Given the description of an element on the screen output the (x, y) to click on. 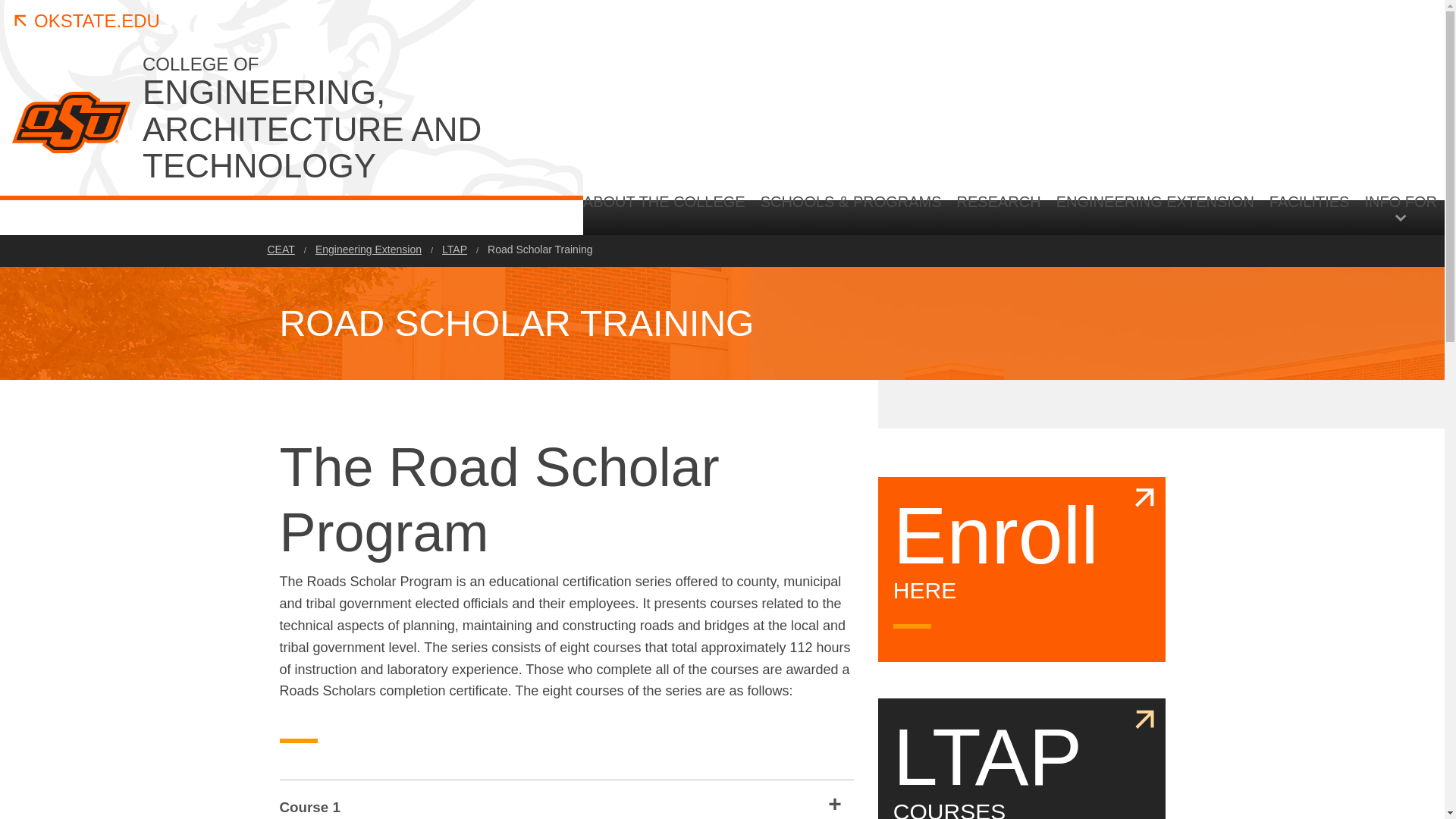
FACILITIES (1309, 213)
Directory (1409, 216)
OKSTATE.EDU (85, 21)
ENGINEERING EXTENSION (1155, 213)
Current Students (1192, 216)
myOKSTATE (1346, 216)
ABOUT THE COLLEGE (338, 119)
Search (667, 213)
RESEARCH (1267, 340)
